Given the description of an element on the screen output the (x, y) to click on. 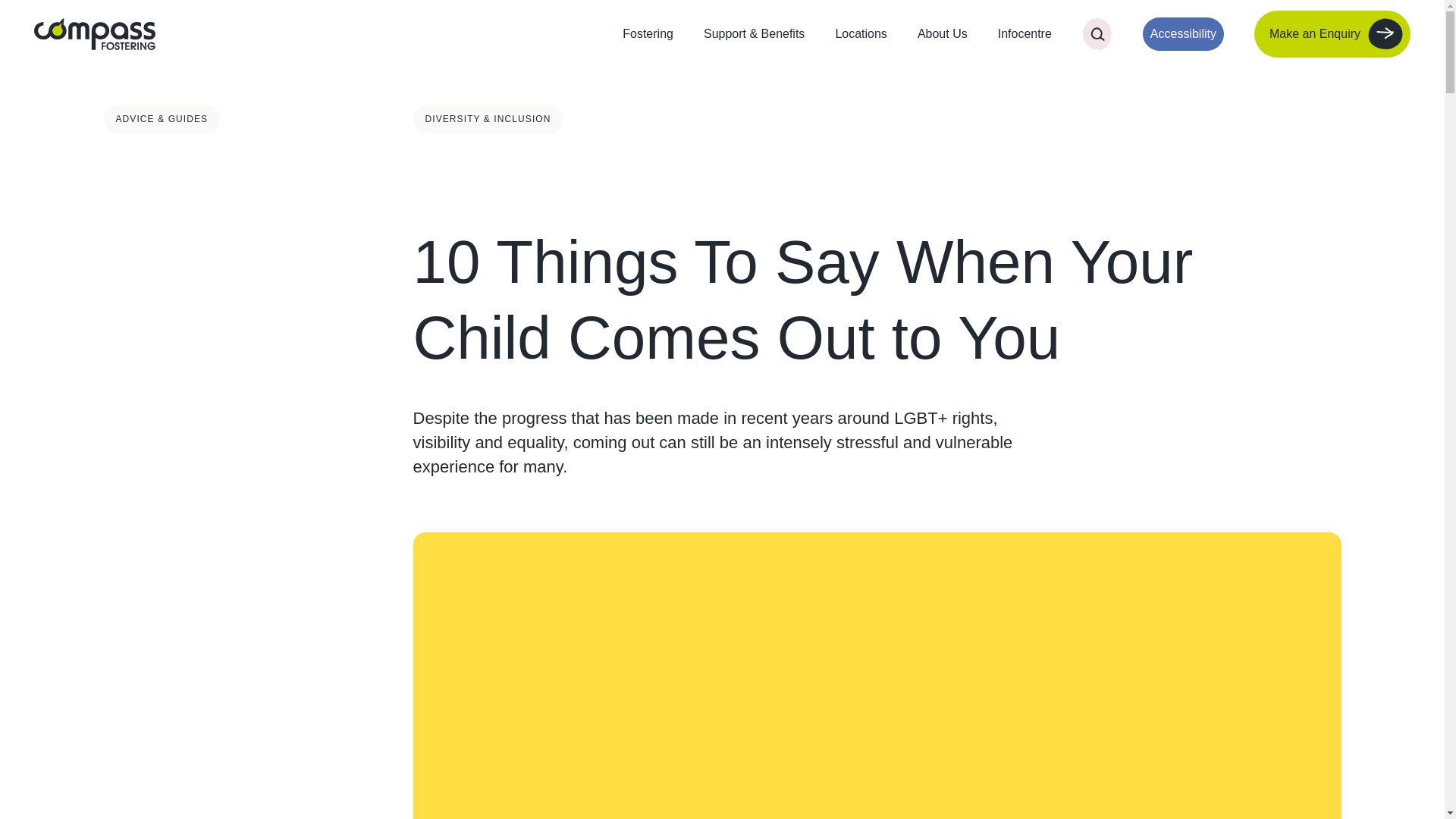
Compass Fostering (94, 34)
Infocentre (1024, 33)
About Us (942, 33)
Fostering (647, 33)
Locations (860, 33)
